Given the description of an element on the screen output the (x, y) to click on. 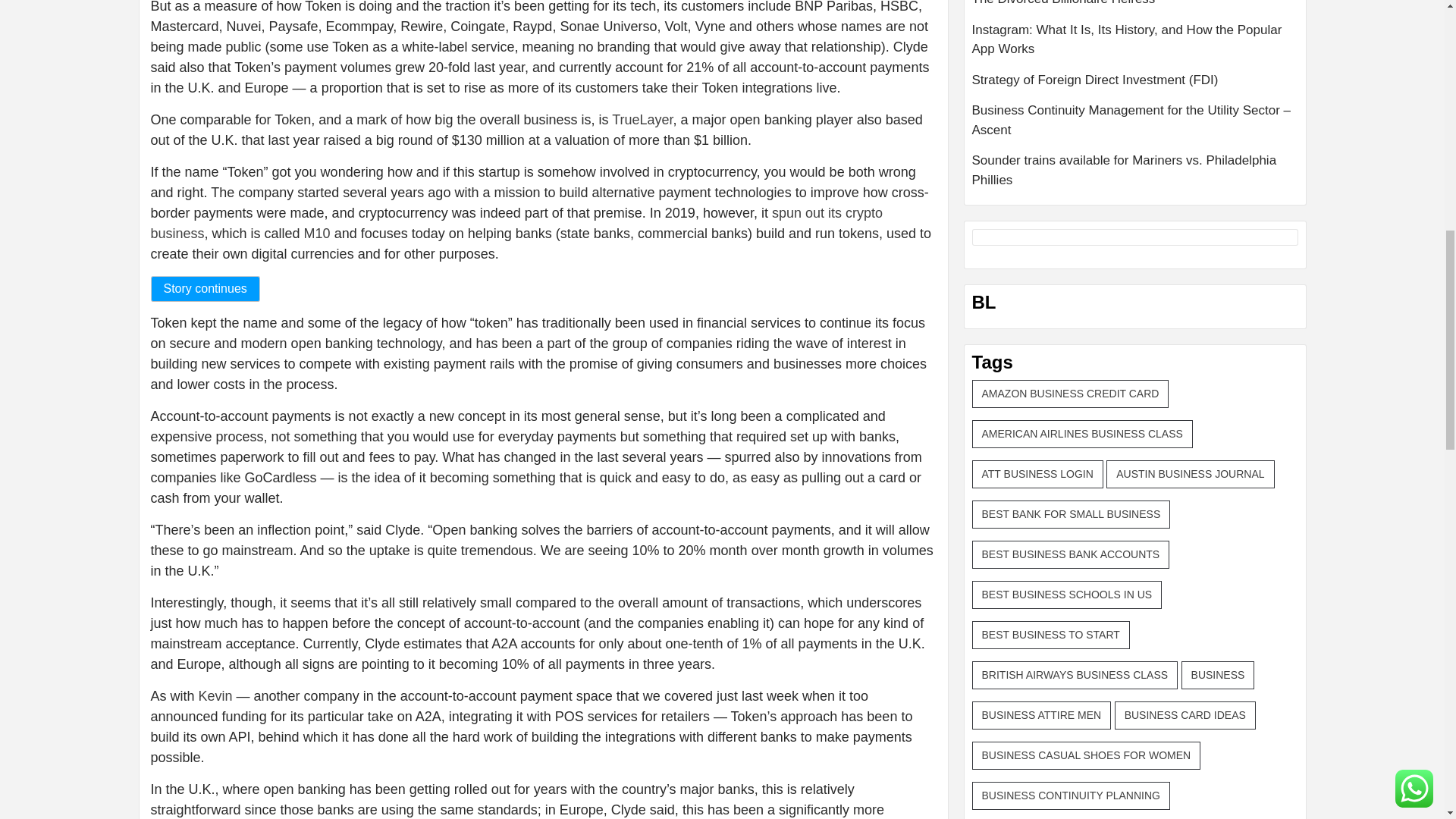
TrueLayer (641, 119)
M10 (317, 233)
spun out its crypto business (515, 222)
Story continues (204, 289)
Kevin (215, 695)
